Given the description of an element on the screen output the (x, y) to click on. 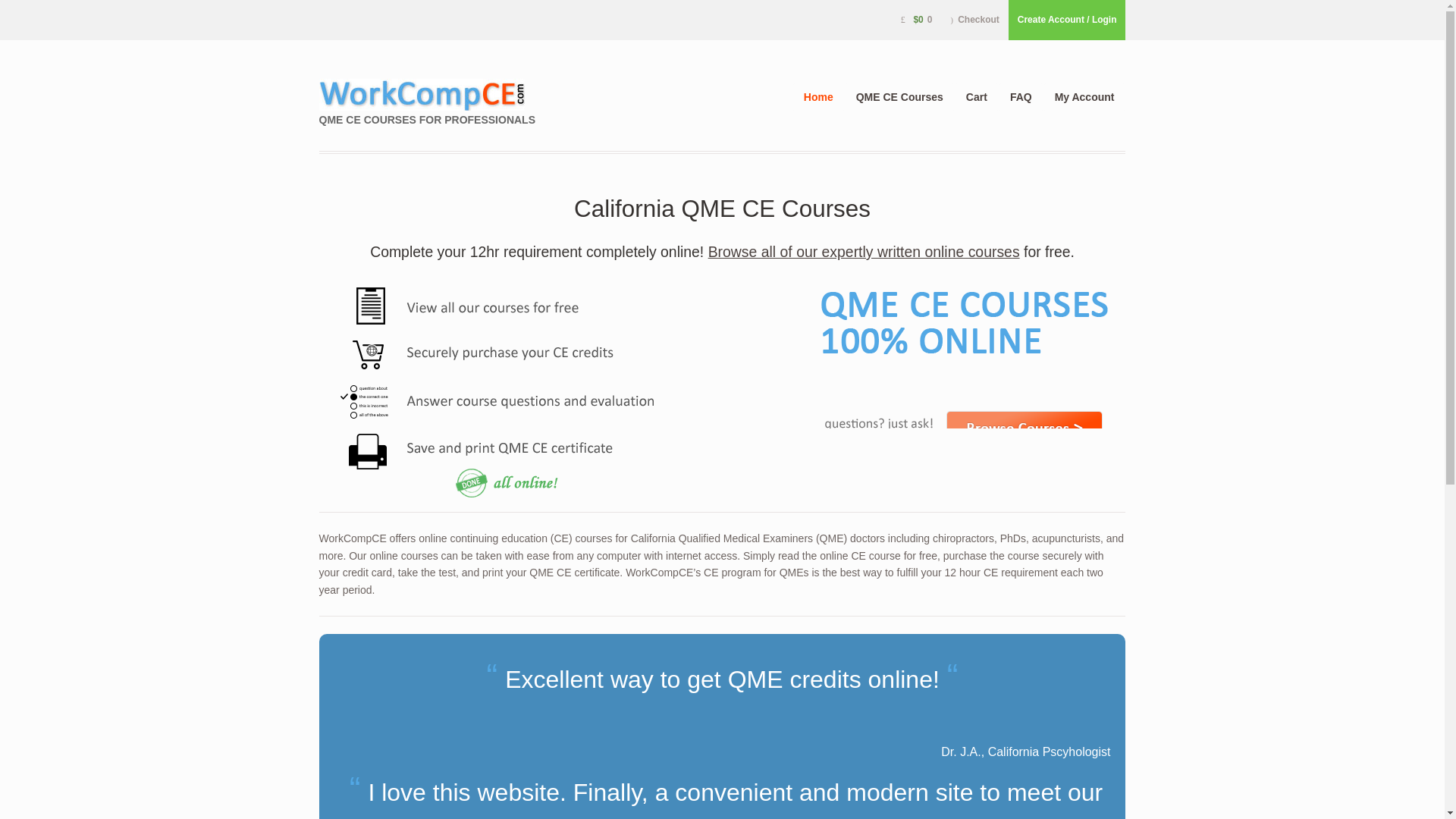
Checkout (973, 20)
FAQ (1020, 97)
Cart (976, 97)
View your shopping cart (892, 20)
My Account (1084, 97)
QME CE Courses (899, 97)
Home (818, 97)
Browse all of our expertly written online courses (863, 251)
